Given the description of an element on the screen output the (x, y) to click on. 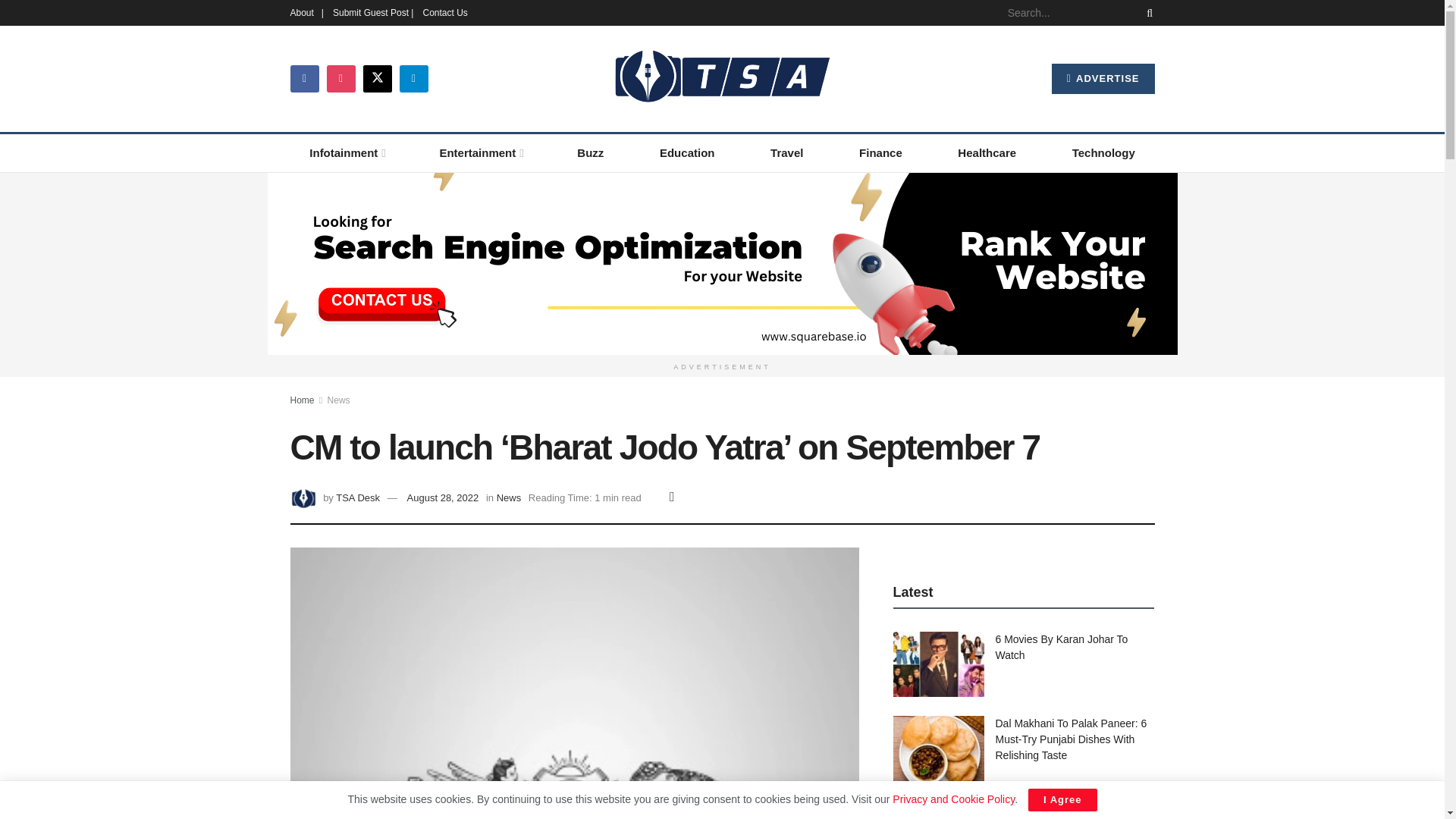
News (338, 398)
Healthcare (987, 152)
Finance (880, 152)
Buzz (590, 152)
Home (301, 398)
Technology (1103, 152)
Infotainment (346, 152)
Travel (786, 152)
ADVERTISE (1102, 78)
